Given the description of an element on the screen output the (x, y) to click on. 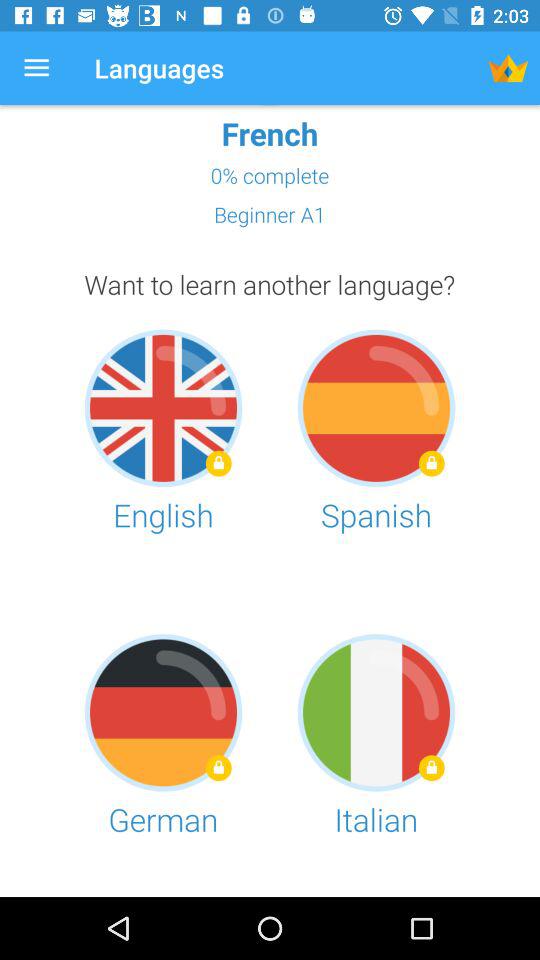
choose icon at the top right corner (508, 67)
